Given the description of an element on the screen output the (x, y) to click on. 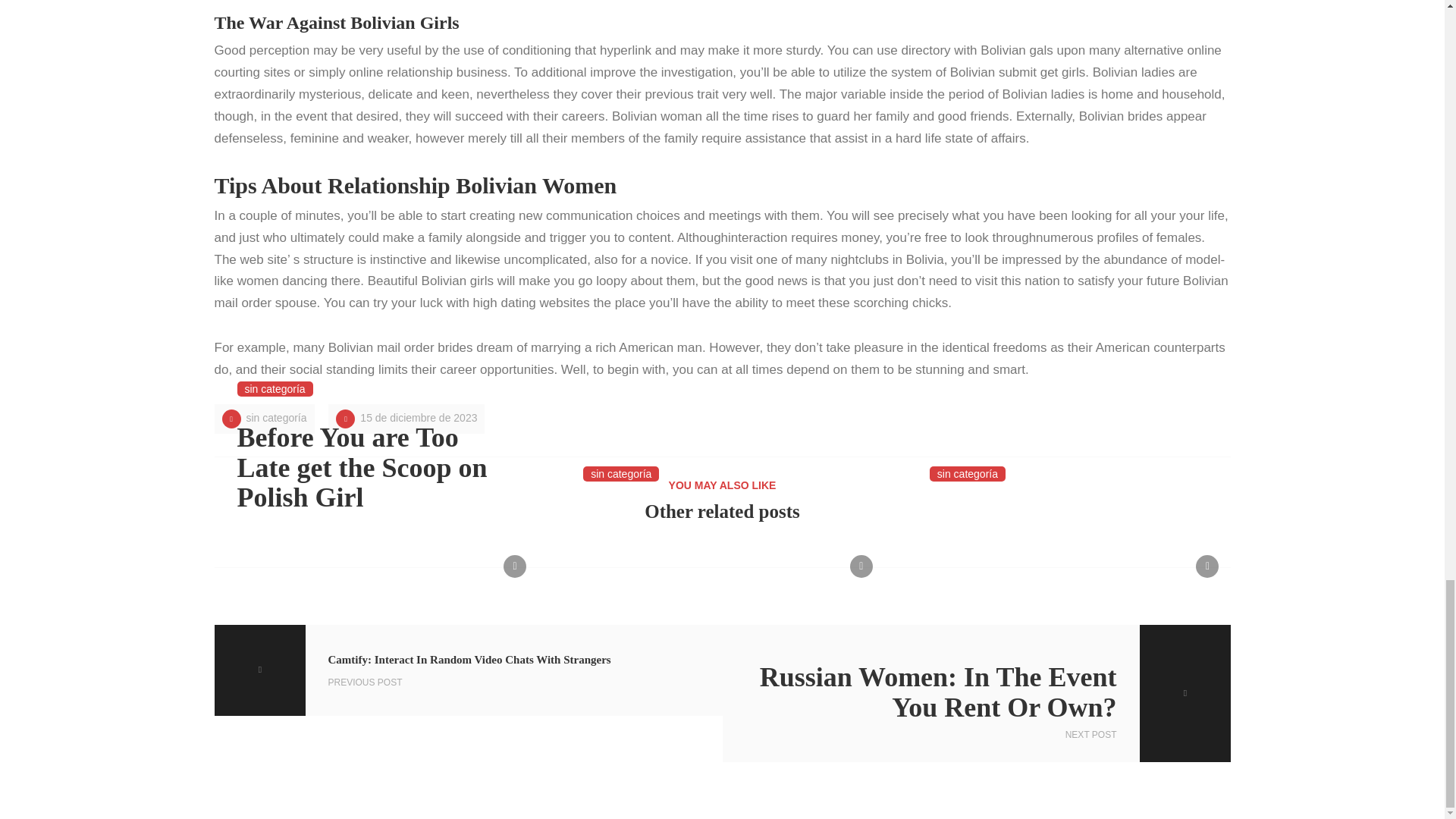
Camtify: Interact In Random Video Chats With Strangers (468, 669)
